Given the description of an element on the screen output the (x, y) to click on. 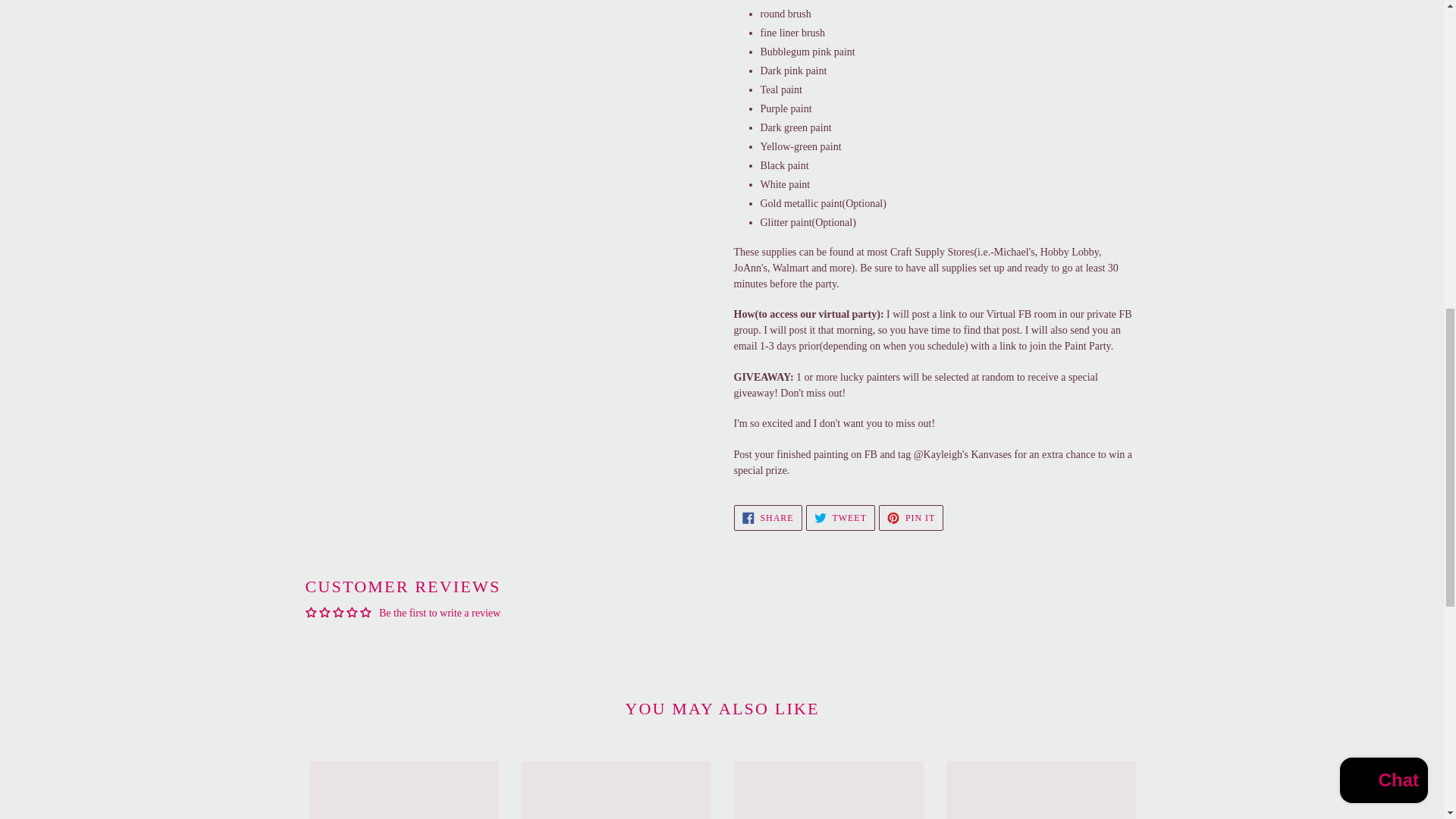
Contrast Comes Together-Original (616, 790)
Black Cat Paint Kit (911, 517)
Bee Pin (767, 517)
